Given the description of an element on the screen output the (x, y) to click on. 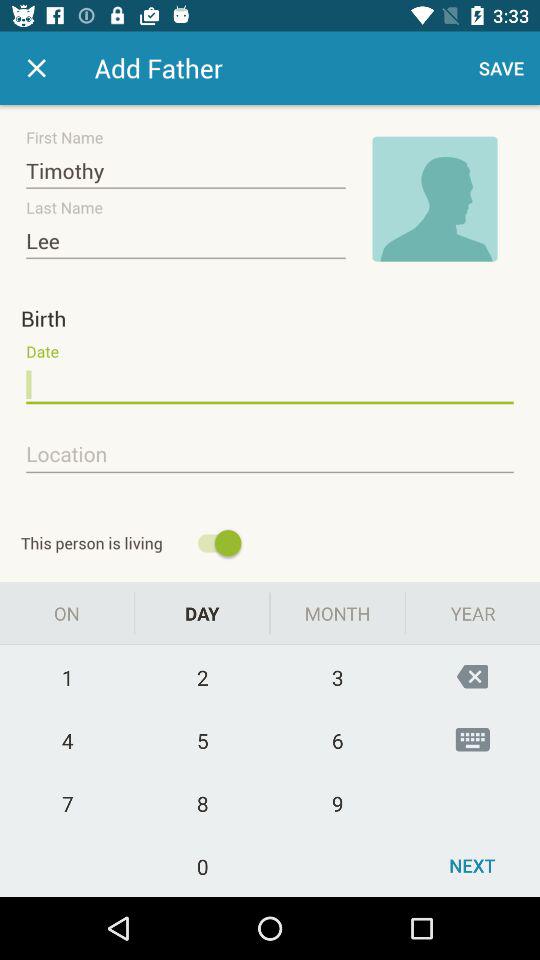
close contact (36, 68)
